Given the description of an element on the screen output the (x, y) to click on. 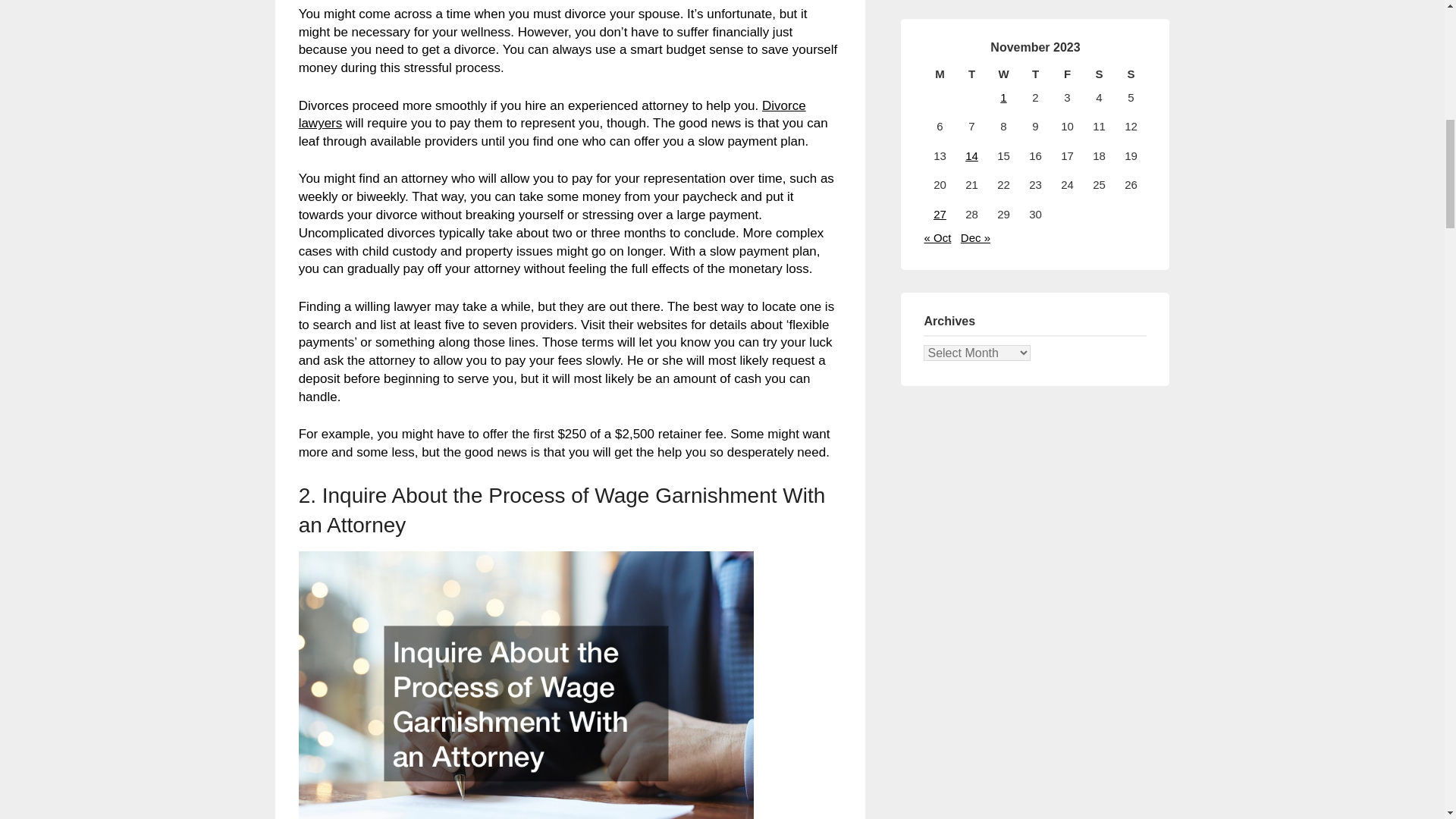
Saturday (1099, 74)
Thursday (1035, 74)
Monday (939, 74)
Wednesday (1003, 74)
27 (939, 214)
Tuesday (971, 74)
Friday (1067, 74)
Sunday (1131, 74)
Divorce lawyers (552, 114)
14 (971, 155)
